Given the description of an element on the screen output the (x, y) to click on. 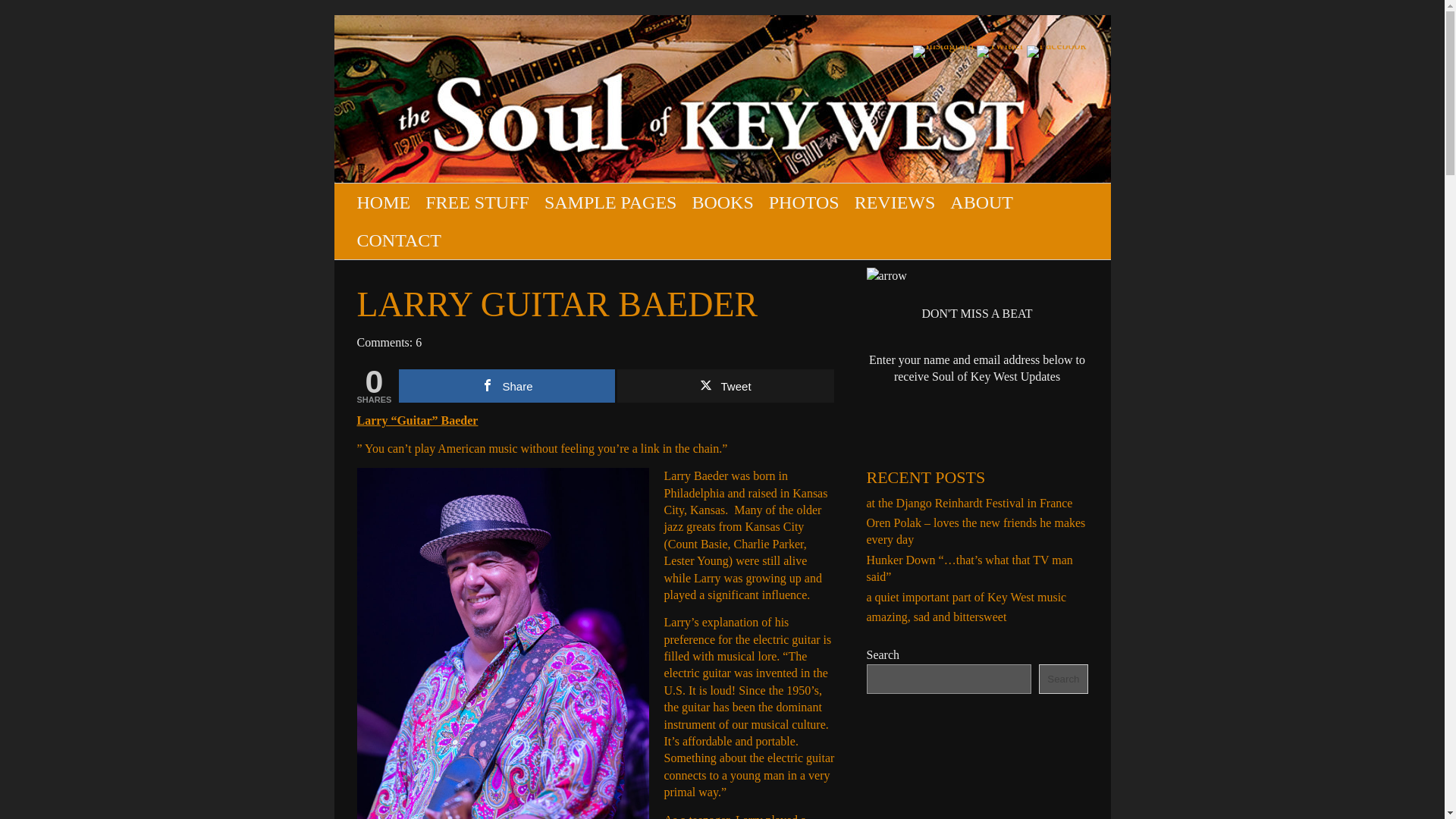
CONTACT (398, 240)
HOME (383, 202)
BOOKS (722, 202)
LARRY GUITAR BAEDER (556, 304)
at the Django Reinhardt Festival in France (968, 502)
ABOUT (981, 202)
SAMPLE PAGES (610, 202)
REVIEWS (895, 202)
PHOTOS (804, 202)
Share (506, 385)
